Given the description of an element on the screen output the (x, y) to click on. 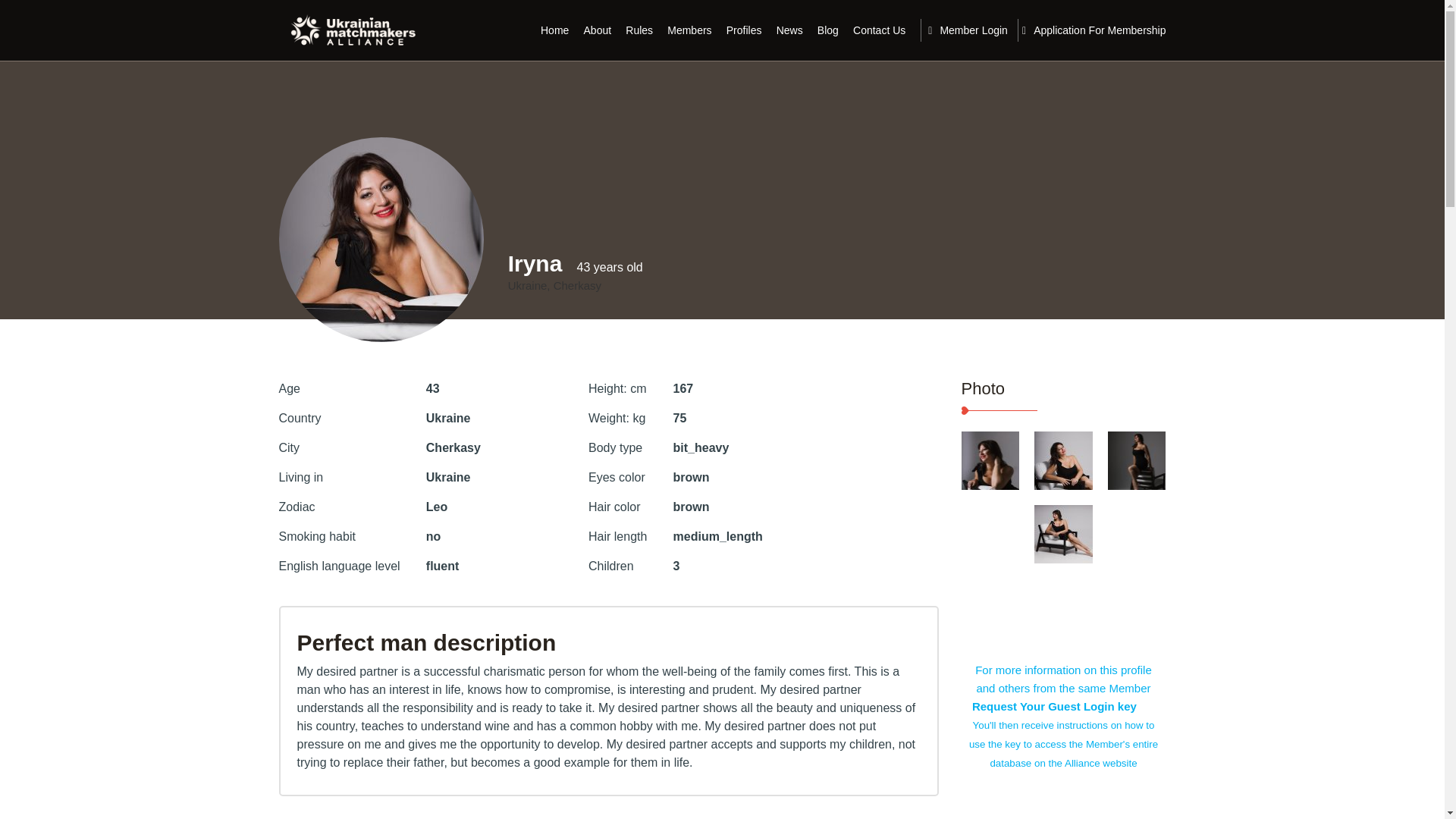
English language level (339, 565)
Cherkasy (453, 447)
Country (300, 418)
Height: cm (617, 388)
Ukraine (448, 477)
fluent (443, 565)
Member Login (967, 30)
Eyes color (616, 477)
Leo (436, 506)
Ukraine (448, 418)
